Given the description of an element on the screen output the (x, y) to click on. 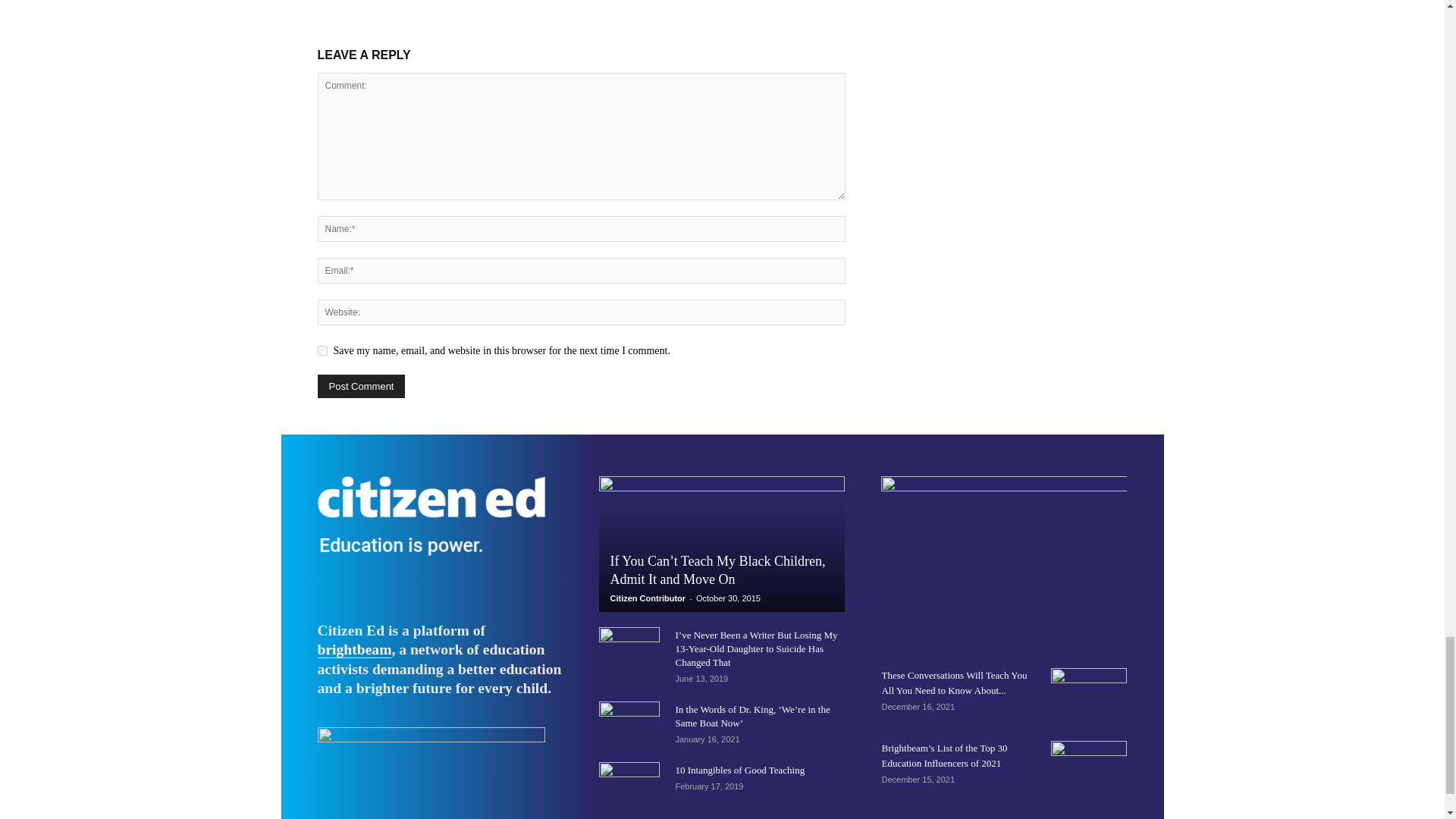
Post Comment (360, 386)
yes (321, 350)
